Given the description of an element on the screen output the (x, y) to click on. 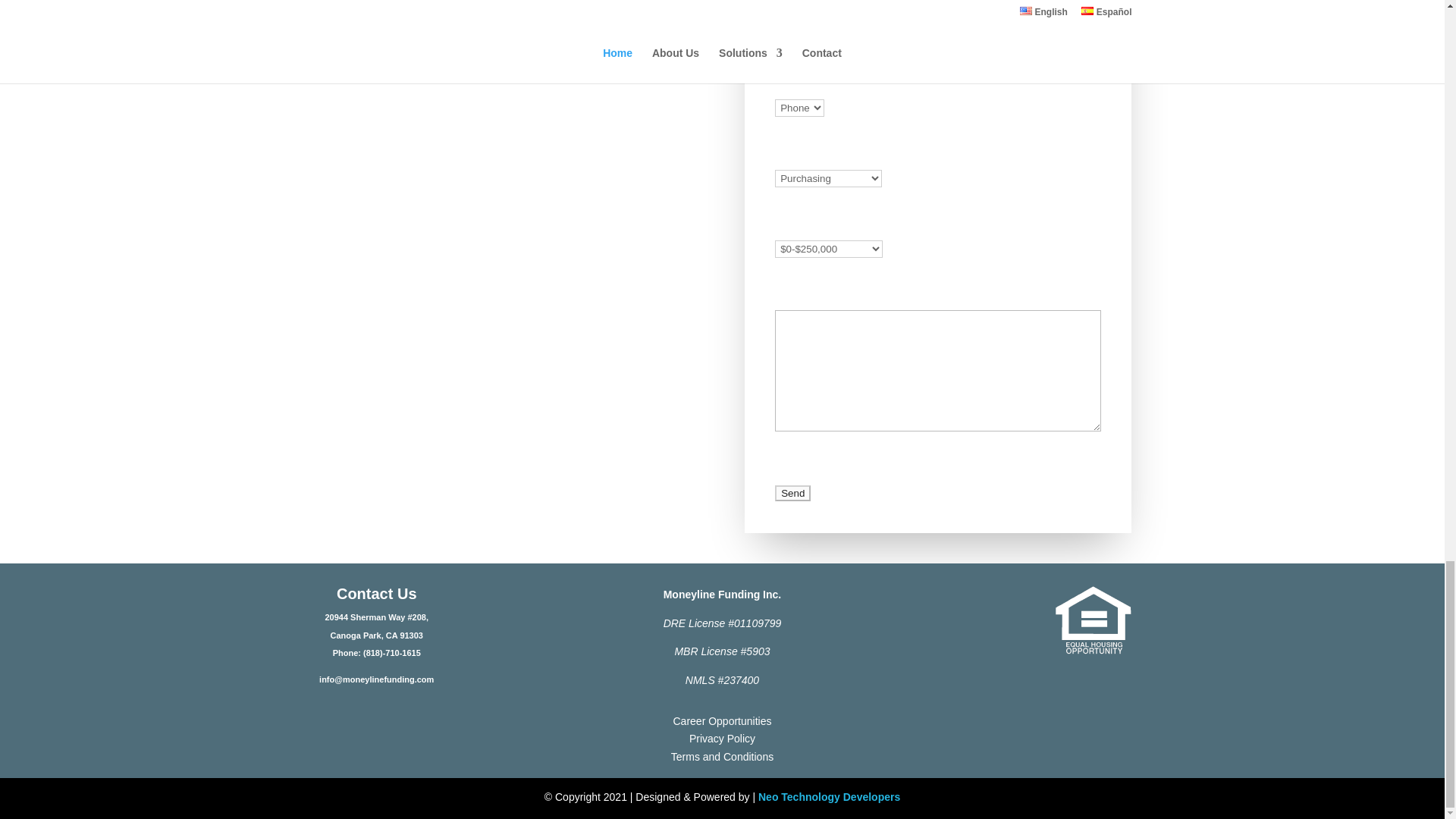
Neo Technology Developers (828, 797)
Send (792, 493)
Send (792, 493)
